Given the description of an element on the screen output the (x, y) to click on. 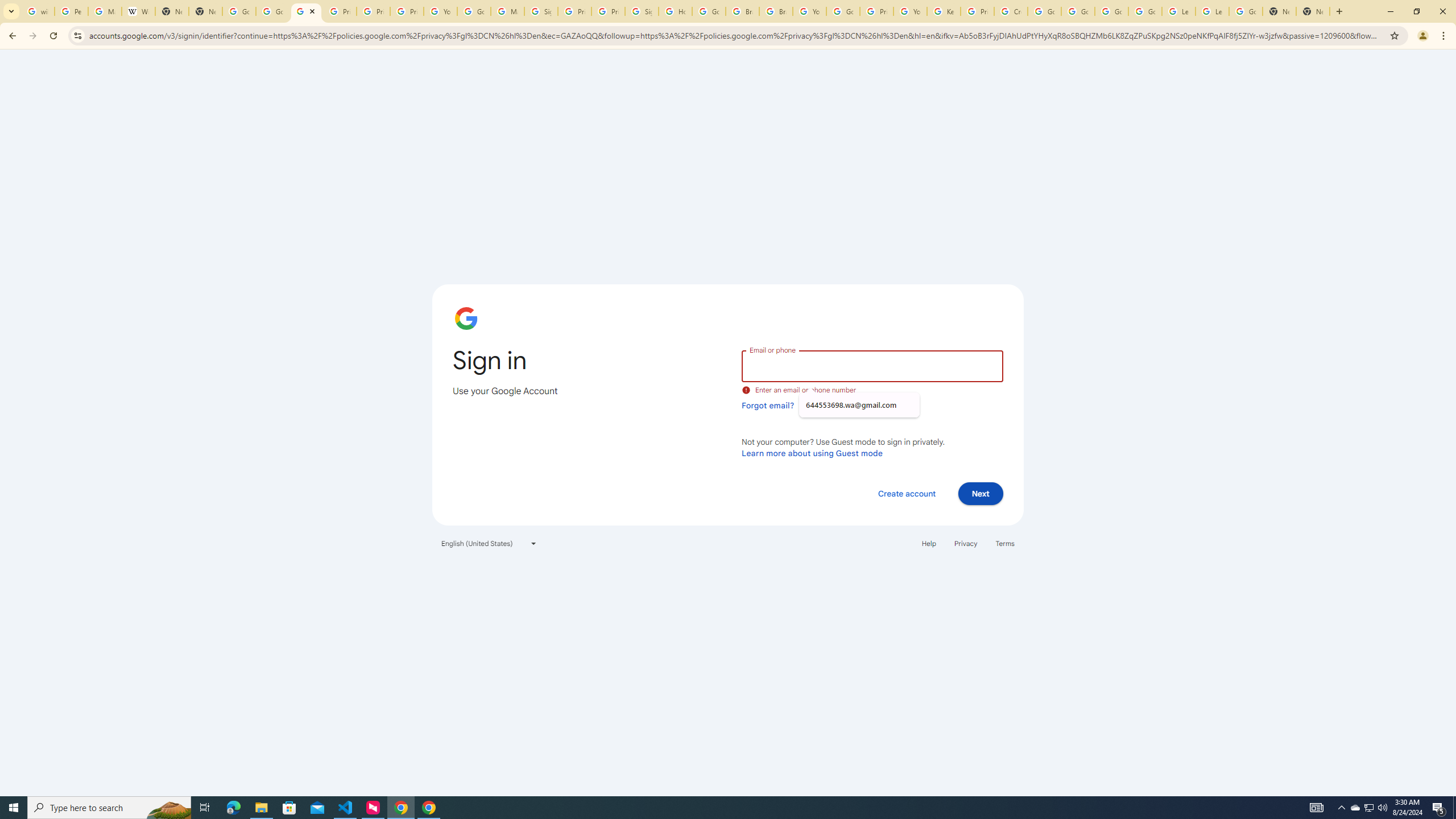
Sign in - Google Accounts (641, 11)
Google Account Help (1144, 11)
Google Drive: Sign-in (272, 11)
Personalization & Google Search results - Google Search Help (71, 11)
Create account (905, 493)
Brand Resource Center (742, 11)
YouTube (441, 11)
